Given the description of an element on the screen output the (x, y) to click on. 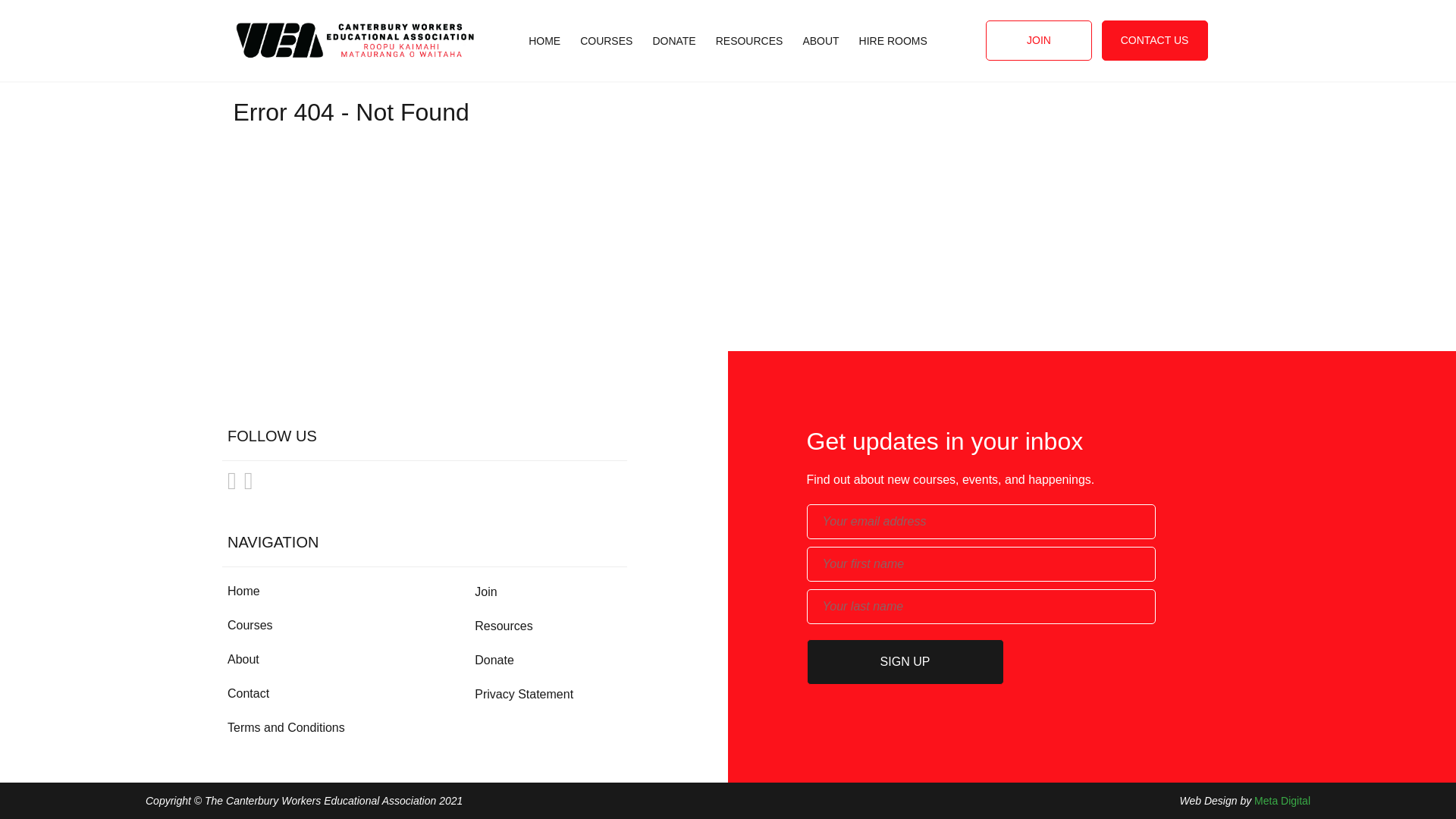
Home (243, 590)
JOIN (1038, 40)
CONTACT US (1153, 40)
Resources (503, 625)
Courses (250, 625)
Join (485, 591)
HIRE ROOMS (893, 60)
Sign up (905, 661)
COURSES (605, 60)
RESOURCES (749, 60)
